Given the description of an element on the screen output the (x, y) to click on. 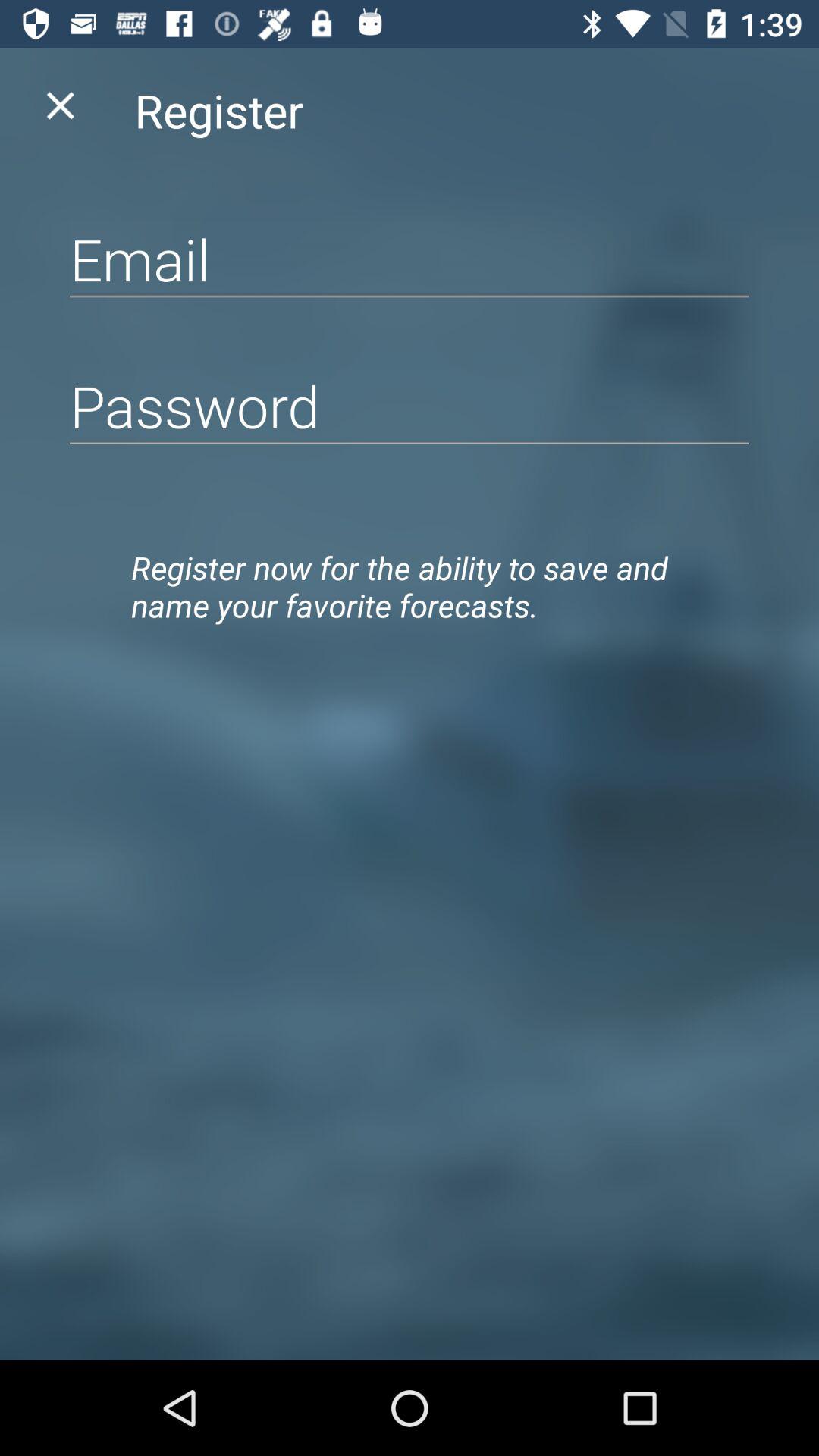
type password (409, 405)
